Given the description of an element on the screen output the (x, y) to click on. 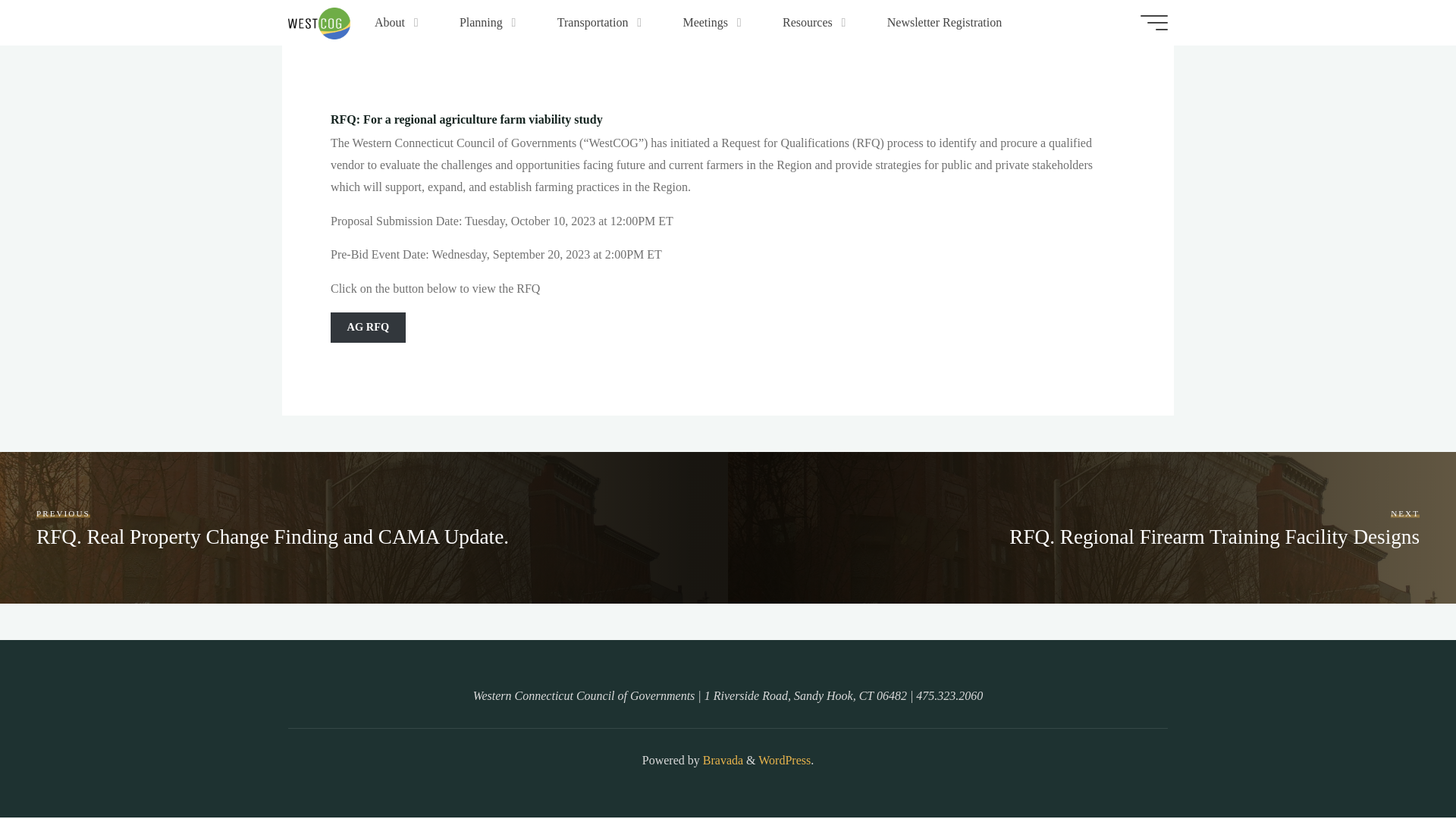
Bravada WordPress Theme by Cryout Creations (721, 759)
Semantic Personal Publishing Platform (784, 759)
Western Connecticut Council of Governments (319, 21)
